Given the description of an element on the screen output the (x, y) to click on. 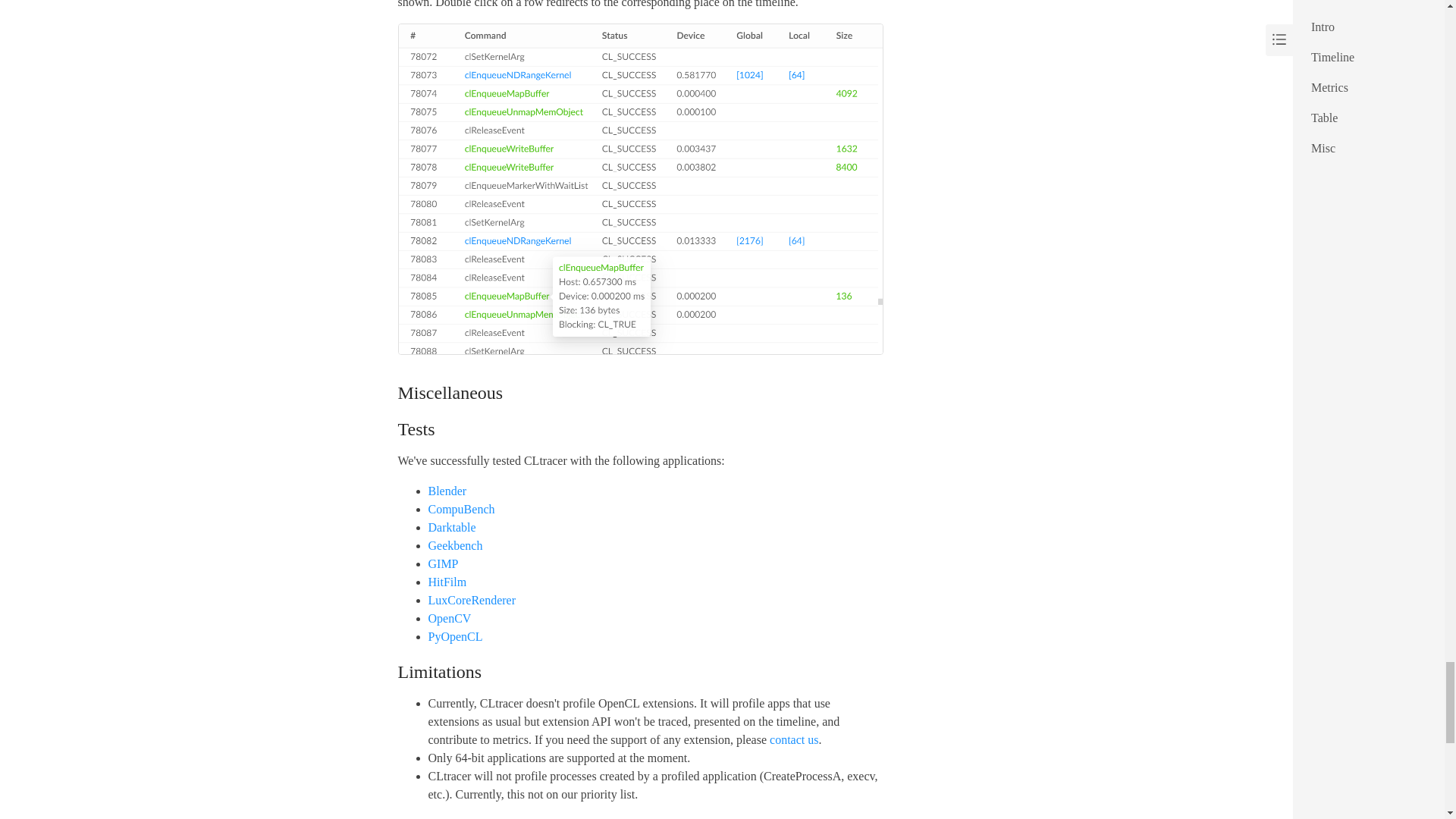
LuxCoreRenderer (471, 599)
Blender (446, 490)
PyOpenCL (454, 635)
contact us (794, 739)
Geekbench (454, 545)
GIMP (443, 563)
CompuBench (461, 508)
OpenCV (449, 617)
Darktable (452, 526)
HitFilm (446, 581)
